Given the description of an element on the screen output the (x, y) to click on. 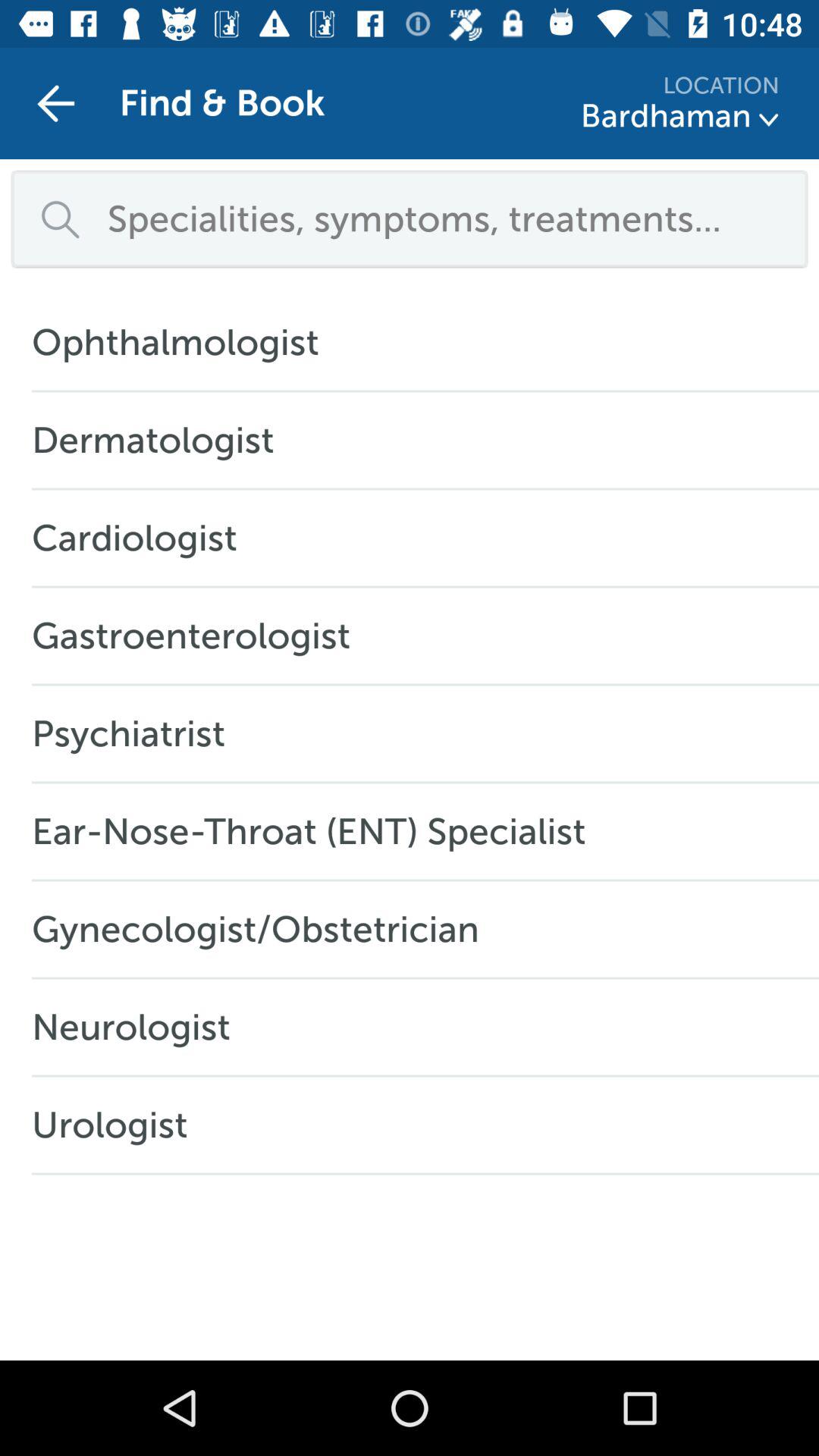
select the neurologist icon (138, 1026)
